Given the description of an element on the screen output the (x, y) to click on. 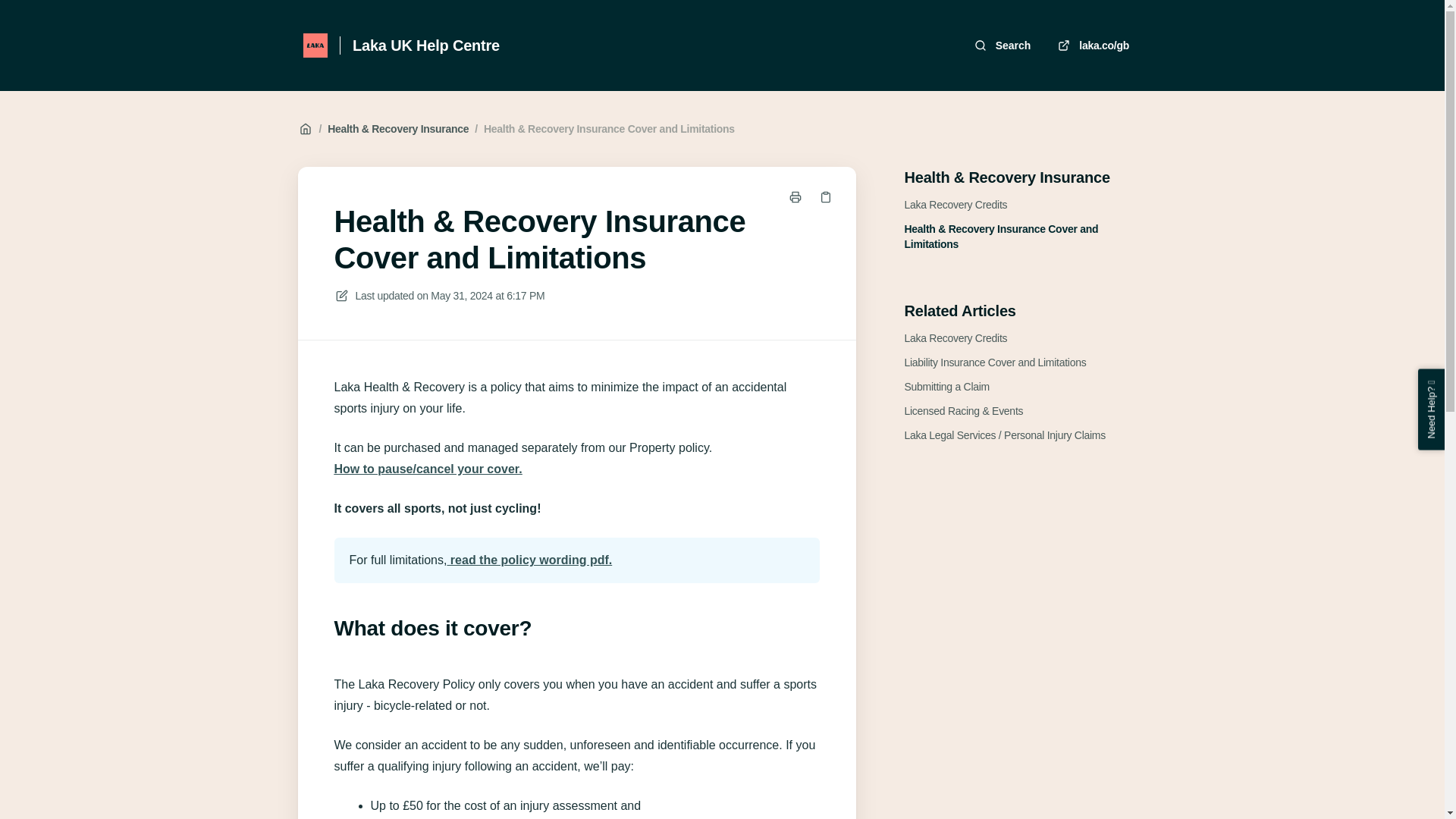
Laka Recovery Credits (955, 337)
Search (1004, 45)
Submitting a Claim (946, 386)
Liability Insurance Cover and Limitations (995, 362)
 read the policy wording pdf. (528, 559)
Laka Recovery Credits (955, 204)
Laka UK Help Centre (425, 45)
